Given the description of an element on the screen output the (x, y) to click on. 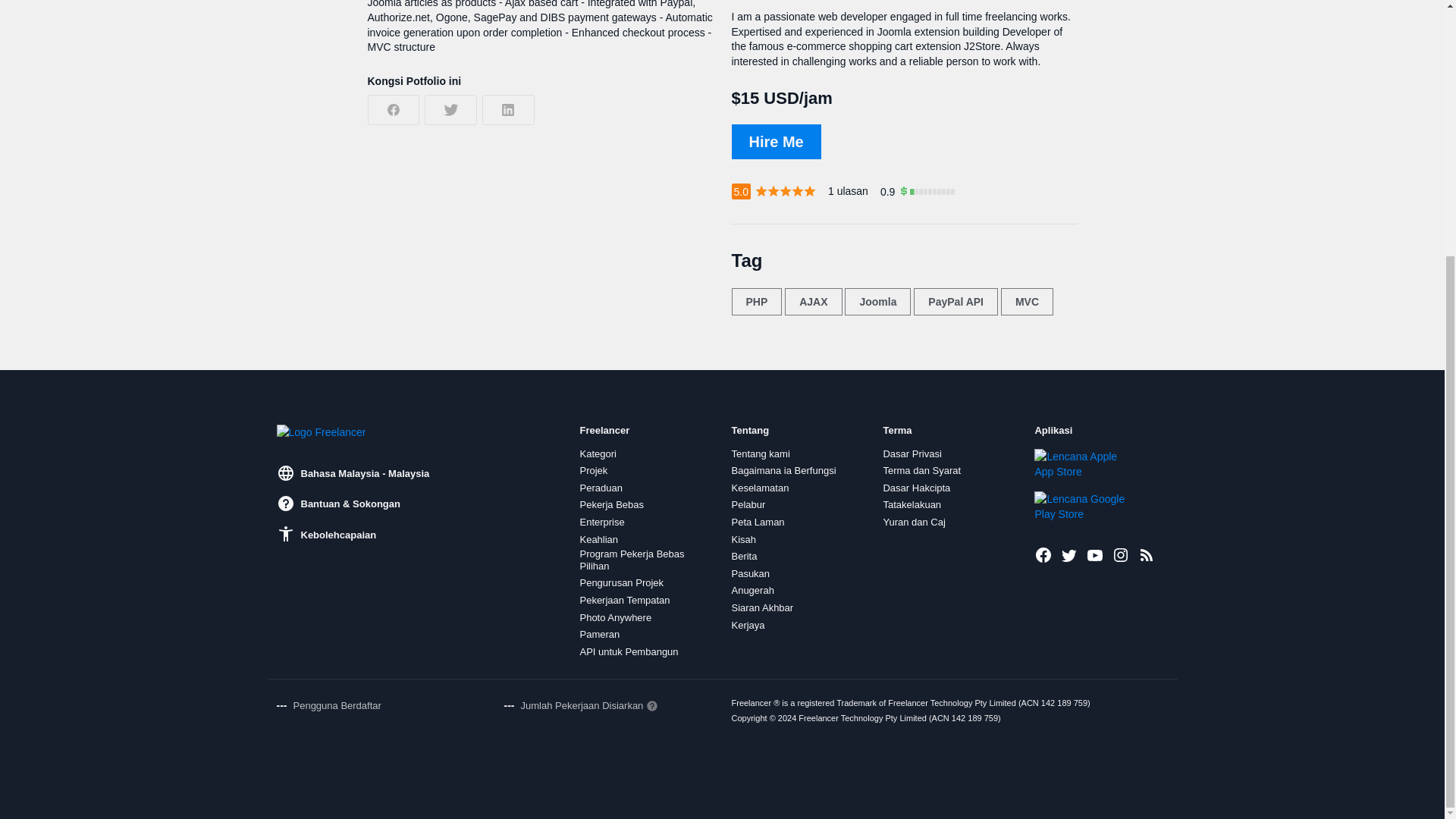
MVC (1026, 301)
Freelancer di Facebook (1042, 555)
Freelancer di Youtube (1094, 555)
Muat turun di App Store (1085, 463)
Pengurusan Projek (621, 582)
Bahasa Malaysia - Malaysia (352, 473)
Enterprise (601, 522)
Kongsi di Facebook (392, 110)
Pekerjaan Tempatan (624, 600)
PayPal API (955, 301)
Program Pekerja Bebas Pilihan (646, 559)
Kategori (597, 453)
API untuk Pembangun (628, 652)
Hire Me (775, 141)
Dapatkannya di Google Play (1085, 506)
